Given the description of an element on the screen output the (x, y) to click on. 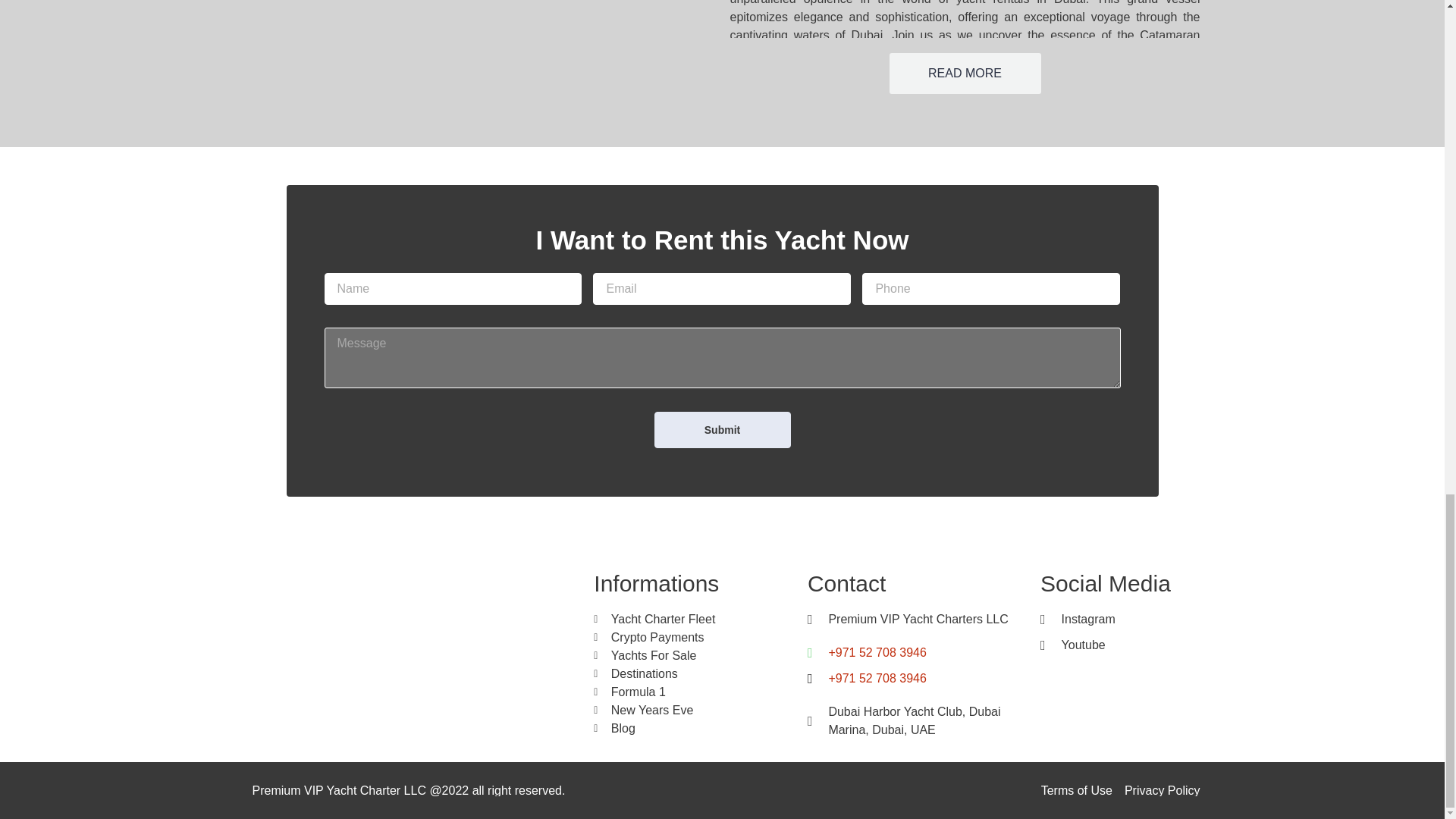
READ MORE (964, 73)
Submit (721, 429)
Yacht Charter Fleet (693, 619)
Crypto Payments (693, 637)
Submit (721, 429)
